Given the description of an element on the screen output the (x, y) to click on. 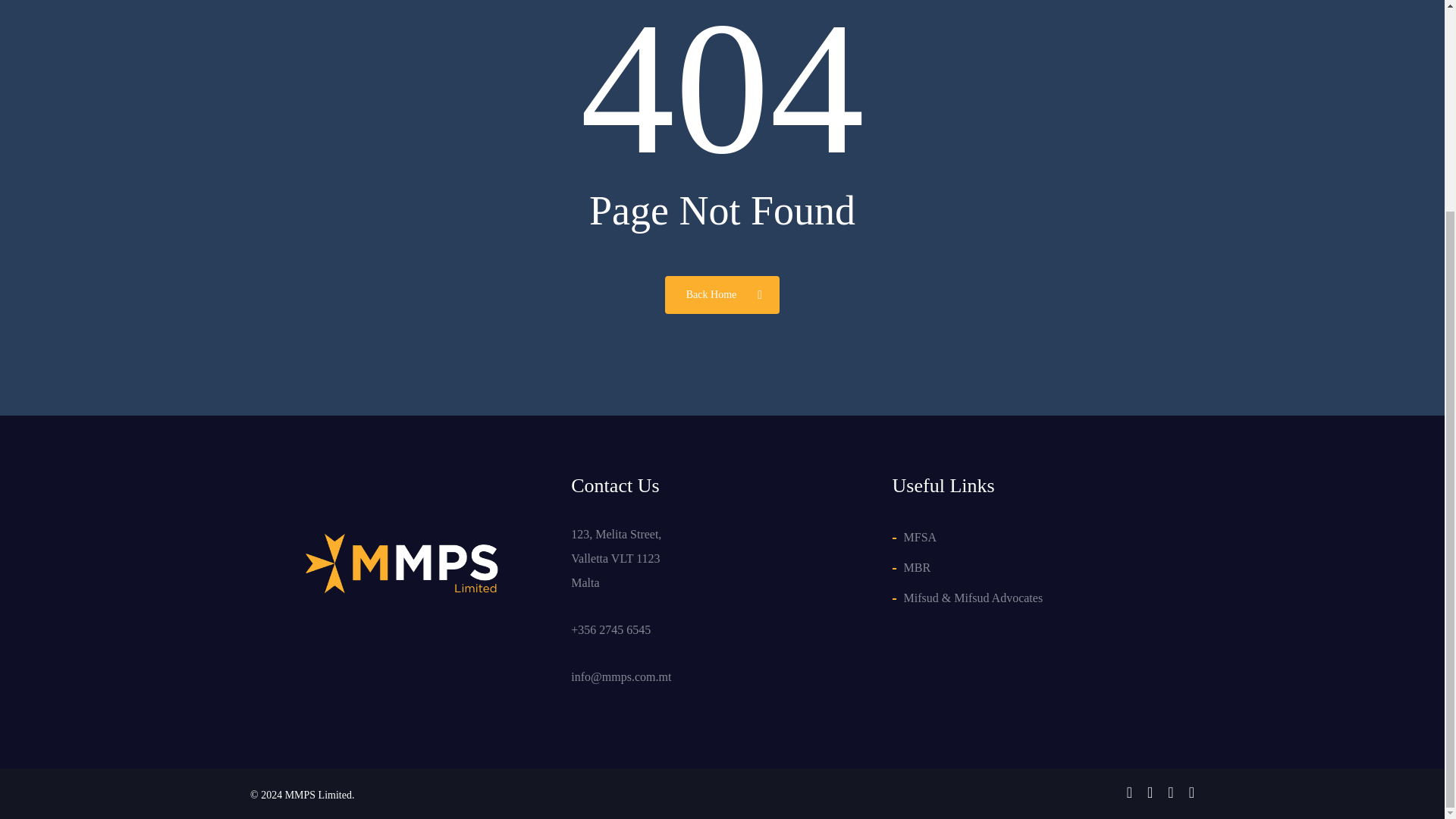
MFSA (1048, 537)
MBR (1048, 567)
Back Home (721, 293)
